Given the description of an element on the screen output the (x, y) to click on. 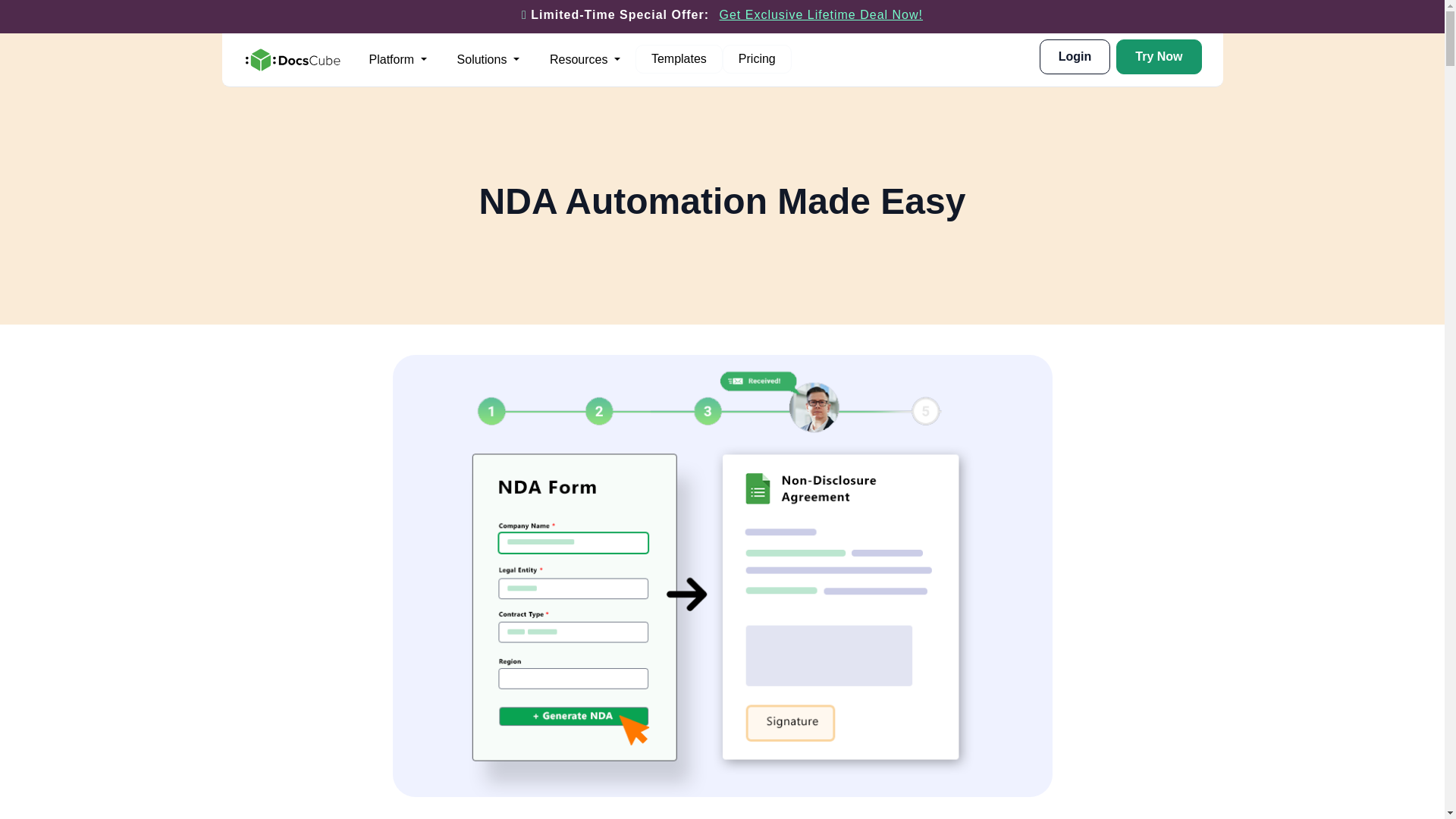
Get Exclusive Lifetime Deal Now! (821, 14)
Solutions (488, 60)
Platform (777, 59)
Login (397, 60)
Resources (1074, 56)
Templates (584, 60)
Try Now (678, 59)
Pricing (1158, 56)
